Given the description of an element on the screen output the (x, y) to click on. 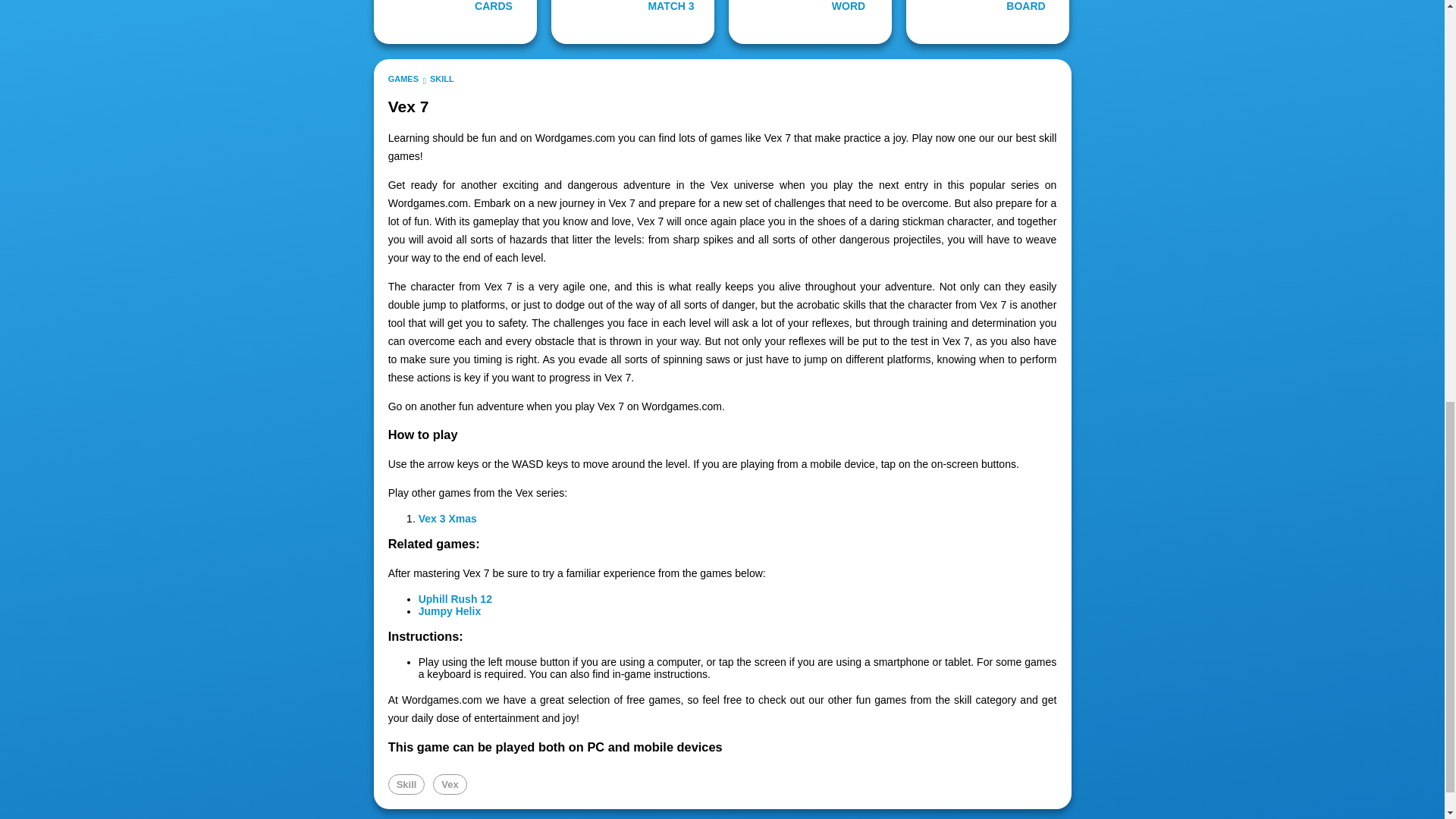
GAMES (403, 78)
WORD (810, 22)
Skill (406, 783)
Cards (455, 22)
Jumpy Helix (449, 611)
MATCH 3 (632, 22)
SKILL (441, 78)
CARDS (455, 22)
Vex 3 Xmas (448, 518)
Vex (448, 783)
